Given the description of an element on the screen output the (x, y) to click on. 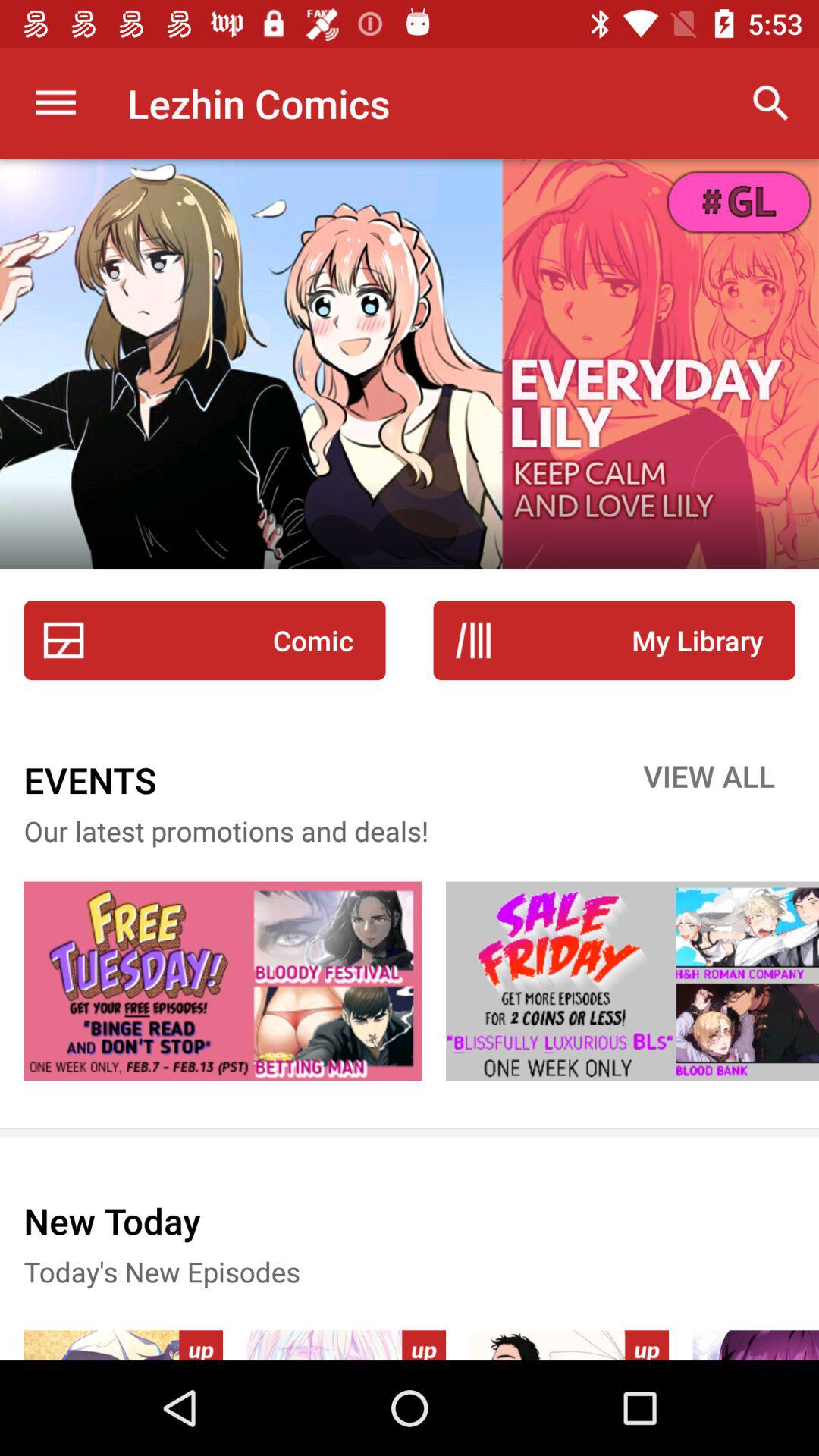
turn on item below the our latest promotions (632, 980)
